Given the description of an element on the screen output the (x, y) to click on. 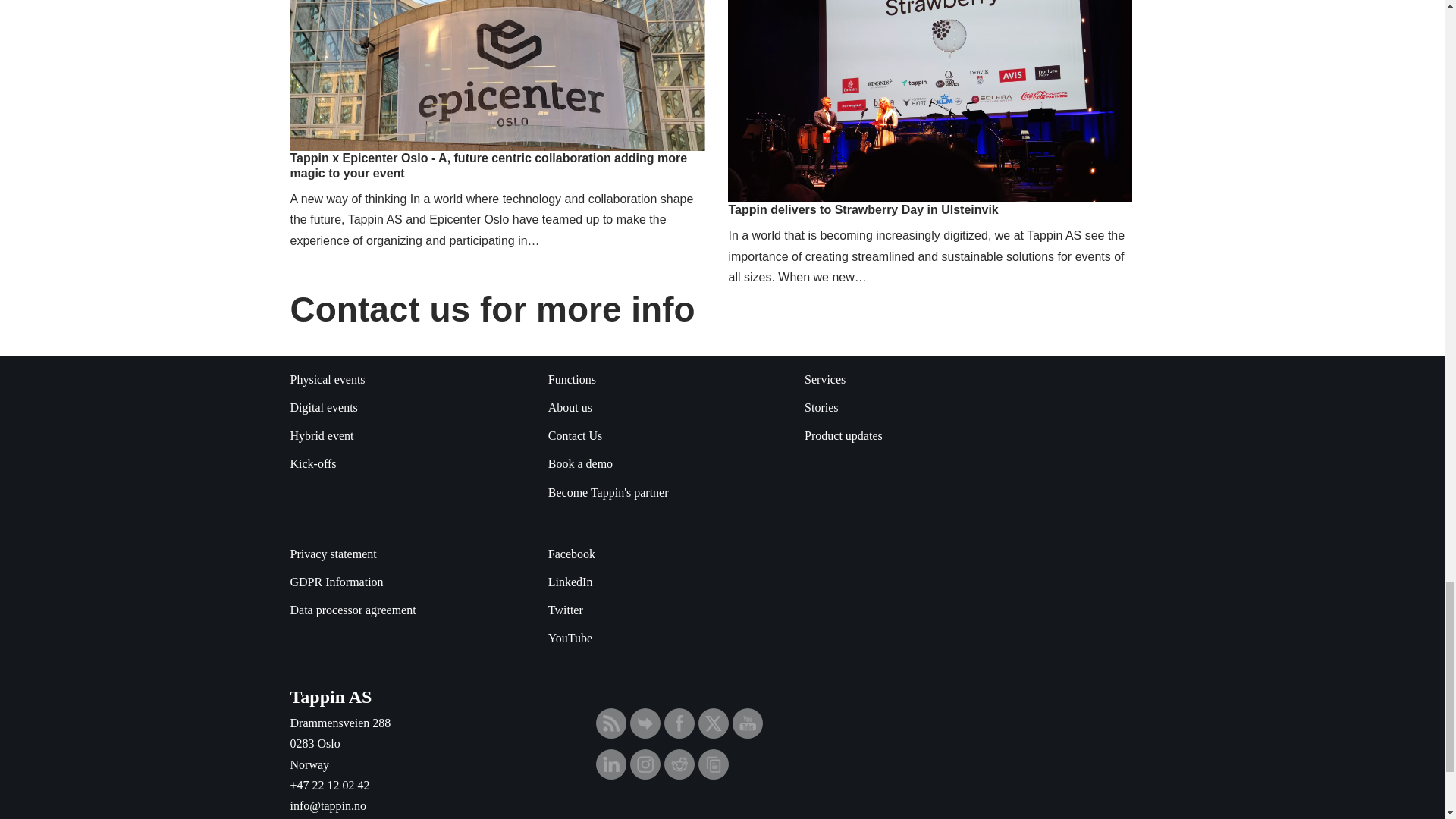
Follow by email (645, 723)
RSS (611, 723)
Facebook (679, 723)
Twitter (713, 724)
